Given the description of an element on the screen output the (x, y) to click on. 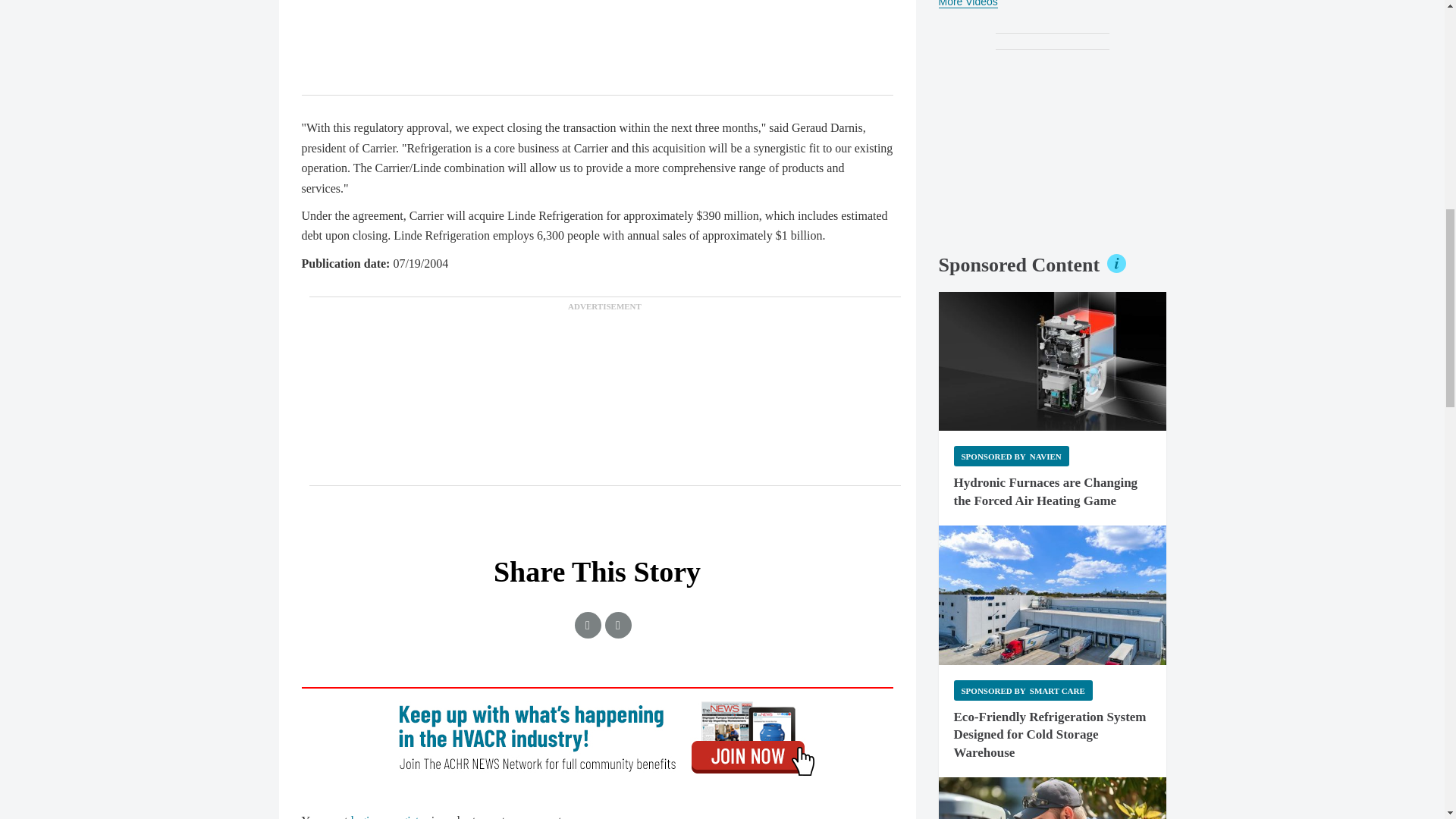
Sponsored by Smart Care (1023, 690)
Sponsored by Navien (1010, 455)
Texas Frio Cold Storage (1052, 595)
Technician Working on HVAC Unit (1052, 798)
Hydronic Forced Air Furnace Diagram (1052, 361)
